Given the description of an element on the screen output the (x, y) to click on. 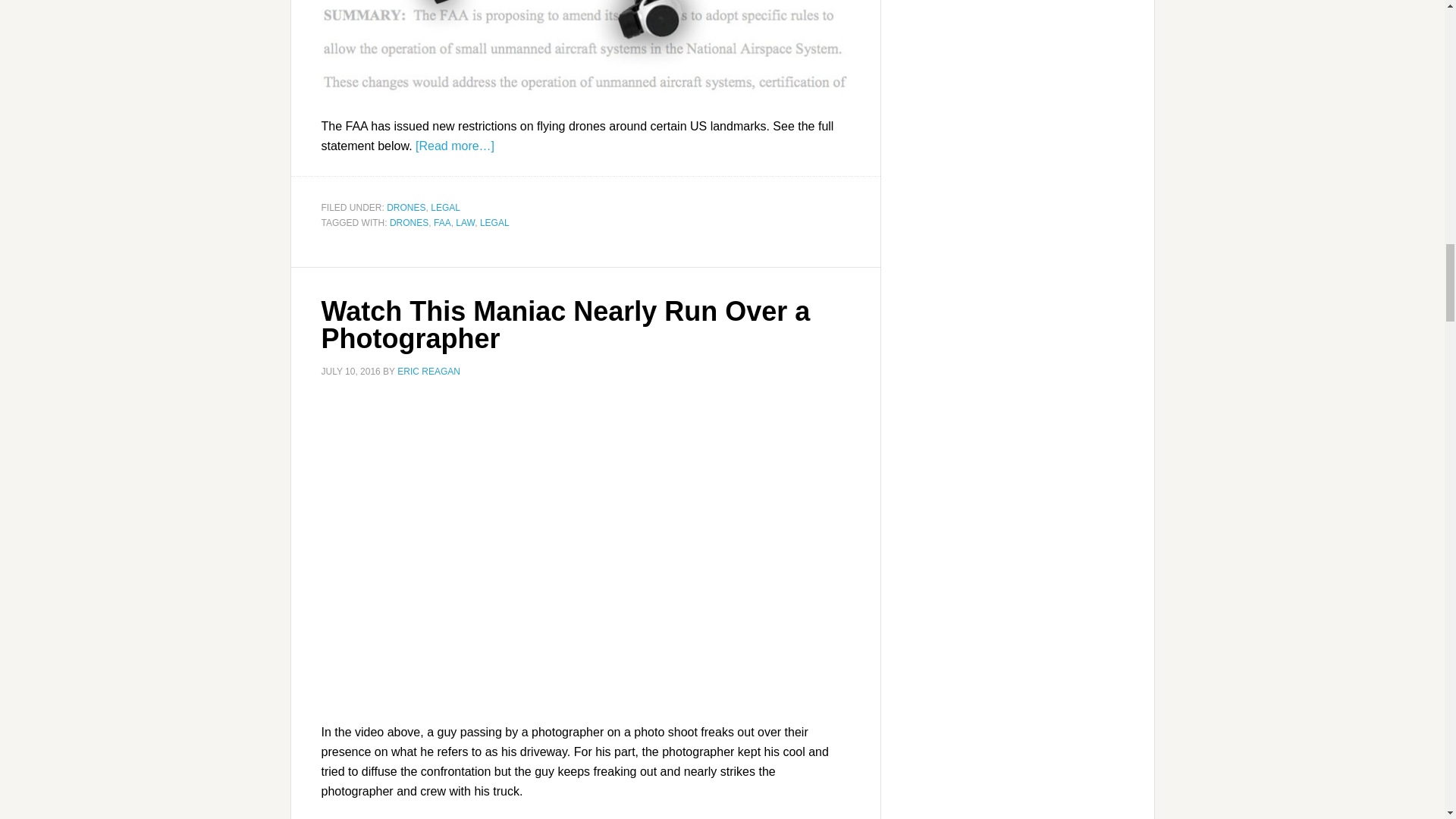
FAA (442, 222)
LEGAL (445, 207)
DRONES (406, 207)
DRONES (409, 222)
ERIC REAGAN (428, 371)
Watch This Maniac Nearly Run Over a Photographer (565, 324)
LEGAL (494, 222)
LAW (464, 222)
